Given the description of an element on the screen output the (x, y) to click on. 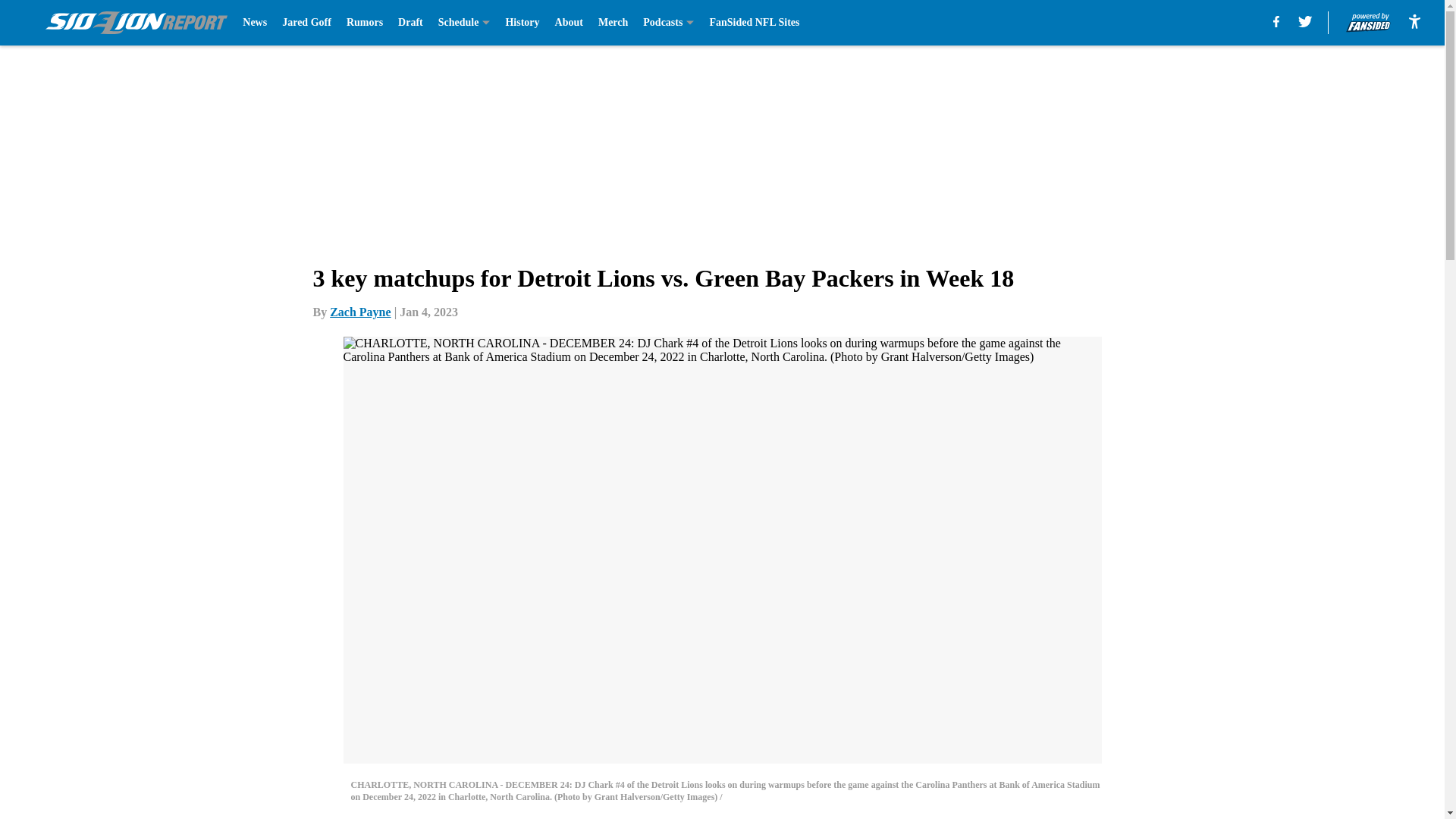
Merch (612, 22)
History (521, 22)
Rumors (364, 22)
Jared Goff (306, 22)
About (568, 22)
Zach Payne (360, 311)
News (254, 22)
FanSided NFL Sites (754, 22)
Draft (410, 22)
